Given the description of an element on the screen output the (x, y) to click on. 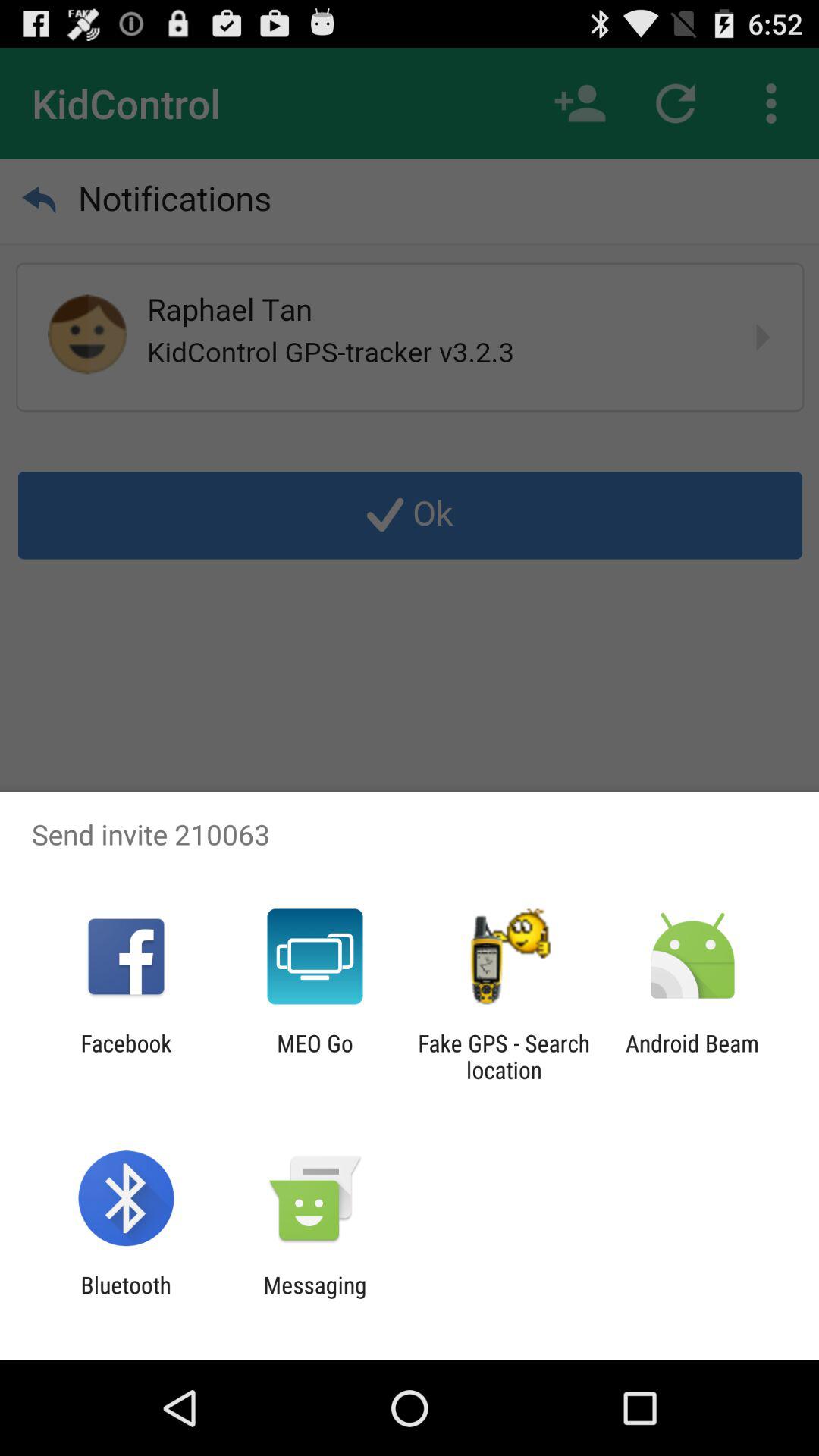
launch the app next to fake gps search icon (692, 1056)
